Given the description of an element on the screen output the (x, y) to click on. 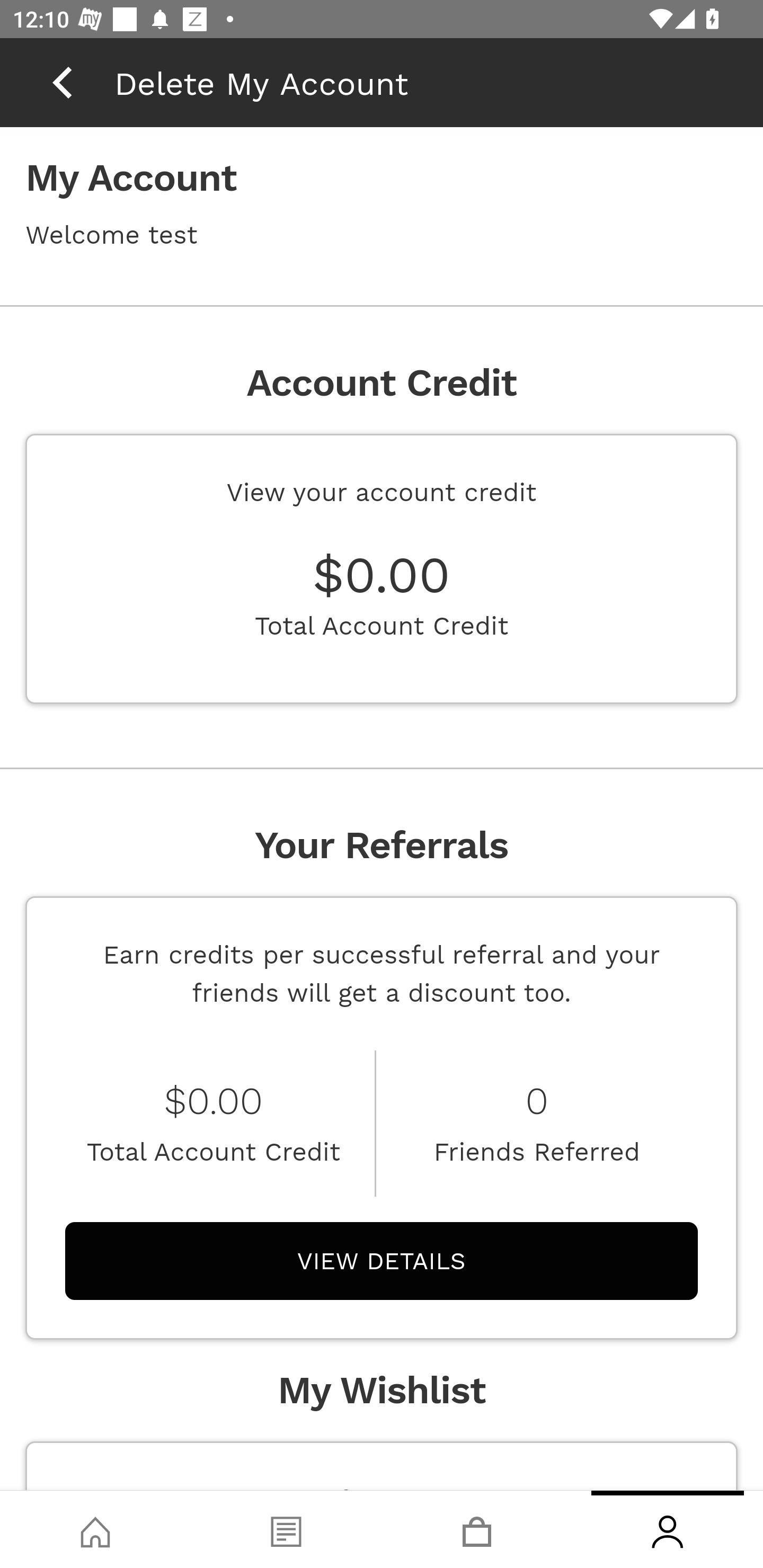
back (61, 82)
VIEW DETAILS (381, 1260)
Shop, tab, 1 of 4 (95, 1529)
Blog, tab, 2 of 4 (285, 1529)
Basket, tab, 3 of 4 (476, 1529)
Account, tab, 4 of 4 (667, 1529)
